Given the description of an element on the screen output the (x, y) to click on. 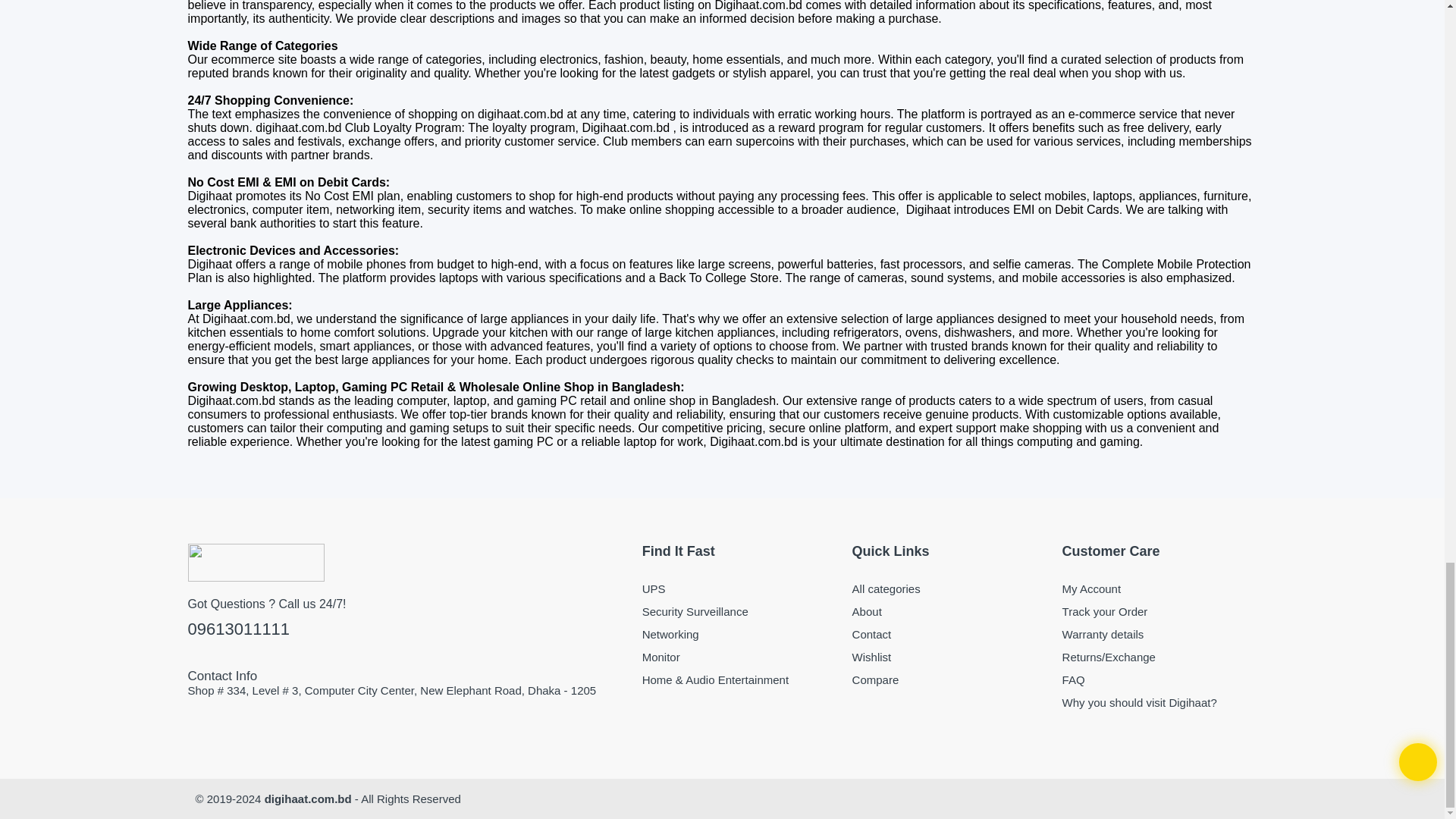
Monitor (739, 657)
All categories (948, 589)
About (948, 611)
My Account (1159, 589)
Contact (948, 634)
Networking (739, 634)
Compare (948, 679)
UPS (739, 589)
Warranty details (1159, 634)
Wishlist (948, 657)
FAQ (1159, 679)
Security Surveillance (739, 611)
09613011111 (407, 628)
Track your Order (1159, 611)
Why you should visit Digihaat? (1159, 702)
